Given the description of an element on the screen output the (x, y) to click on. 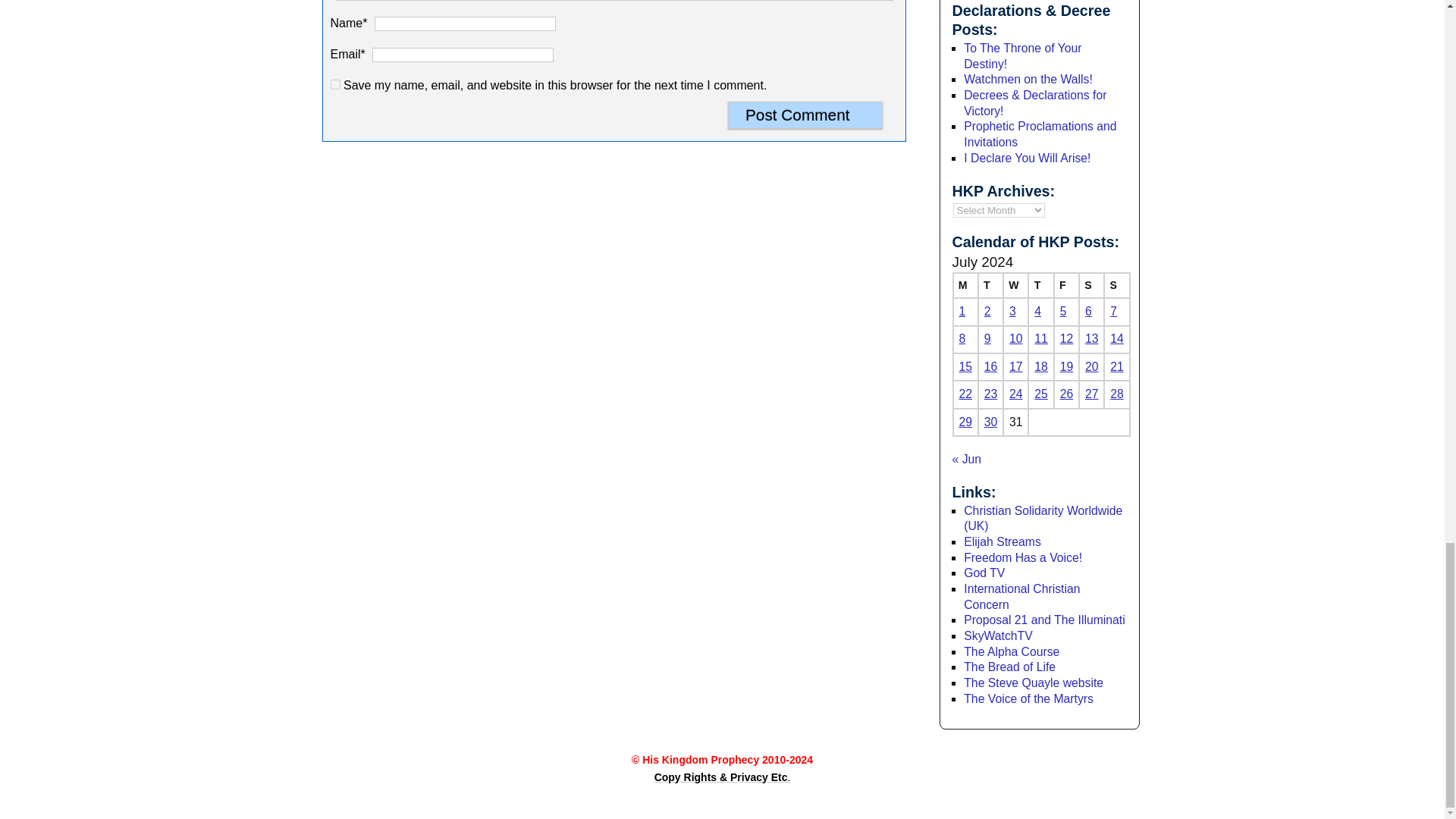
Wednesday (1015, 285)
Monday (964, 285)
Post Comment (805, 114)
Thursday (1039, 285)
Tuesday (990, 285)
yes (335, 84)
Friday (1066, 285)
